Given the description of an element on the screen output the (x, y) to click on. 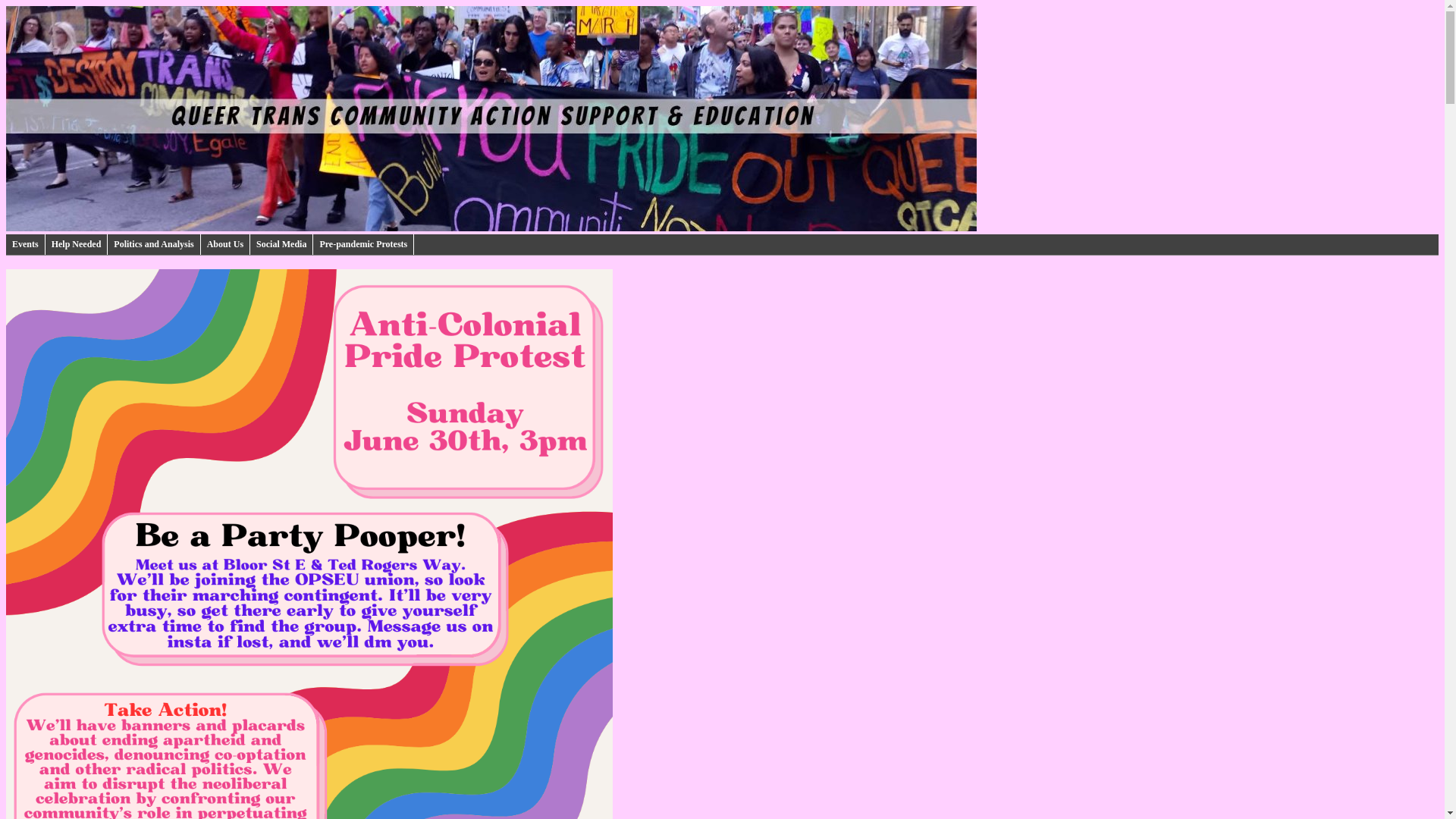
Help Needed (76, 244)
Politics and Analysis (153, 244)
Events (25, 244)
Social Media (281, 244)
Pre-pandemic Protests (363, 244)
About Us (225, 244)
